Given the description of an element on the screen output the (x, y) to click on. 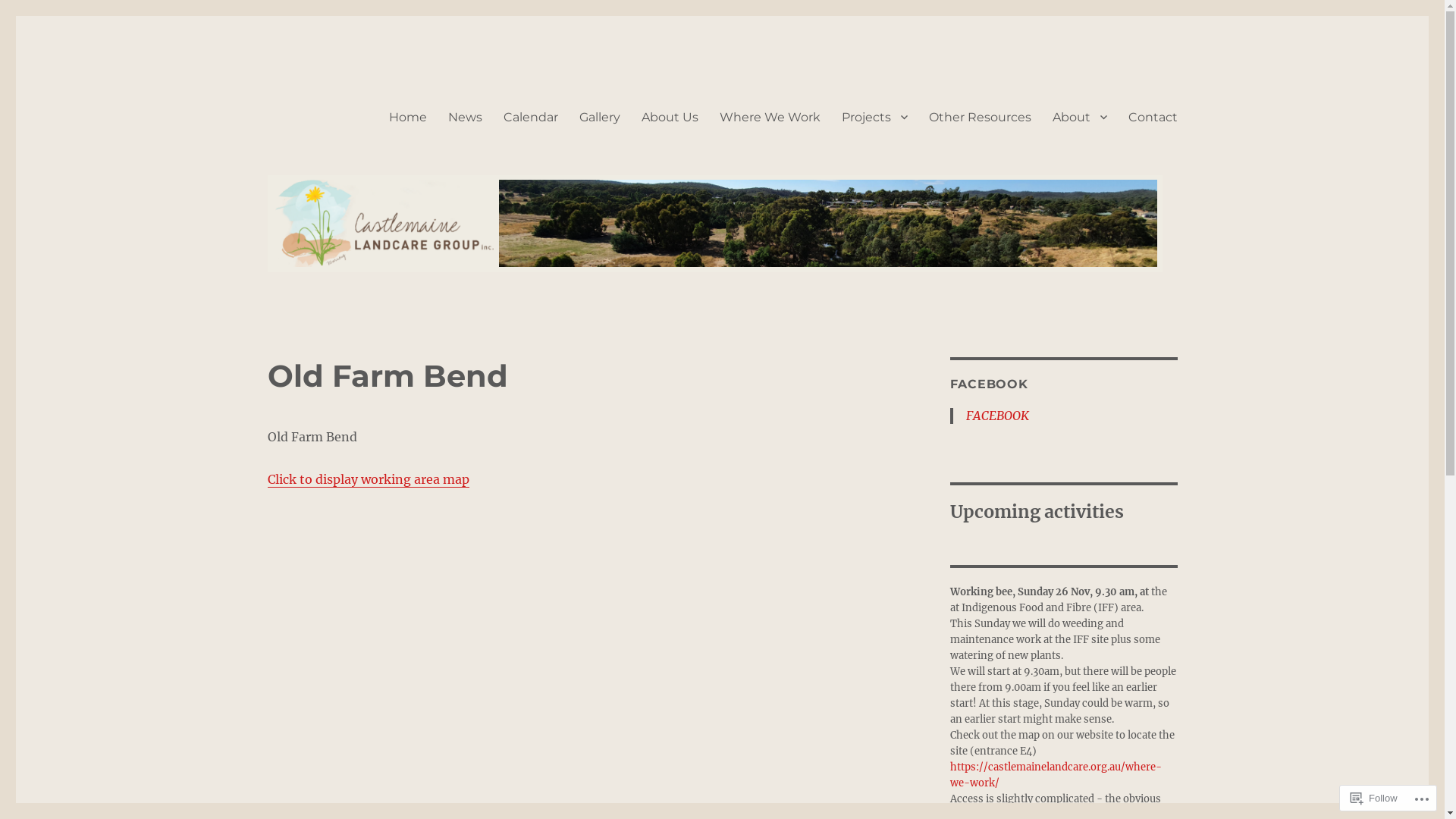
About Us Element type: text (669, 116)
Other Resources Element type: text (979, 116)
FACEBOOK Element type: text (997, 415)
Contact Element type: text (1152, 116)
About Element type: text (1079, 116)
Where We Work Element type: text (769, 116)
Calendar Element type: text (530, 116)
News Element type: text (464, 116)
Castlemaine Landcare Group Element type: text (427, 92)
FACEBOOK Element type: text (988, 383)
https://castlemainelandcare.org.au/where-we-work/ Element type: text (1055, 774)
Gallery Element type: text (599, 116)
Follow Element type: text (1373, 797)
Home Element type: text (406, 116)
Click to display working area map Element type: text (367, 478)
Projects Element type: text (874, 116)
